Given the description of an element on the screen output the (x, y) to click on. 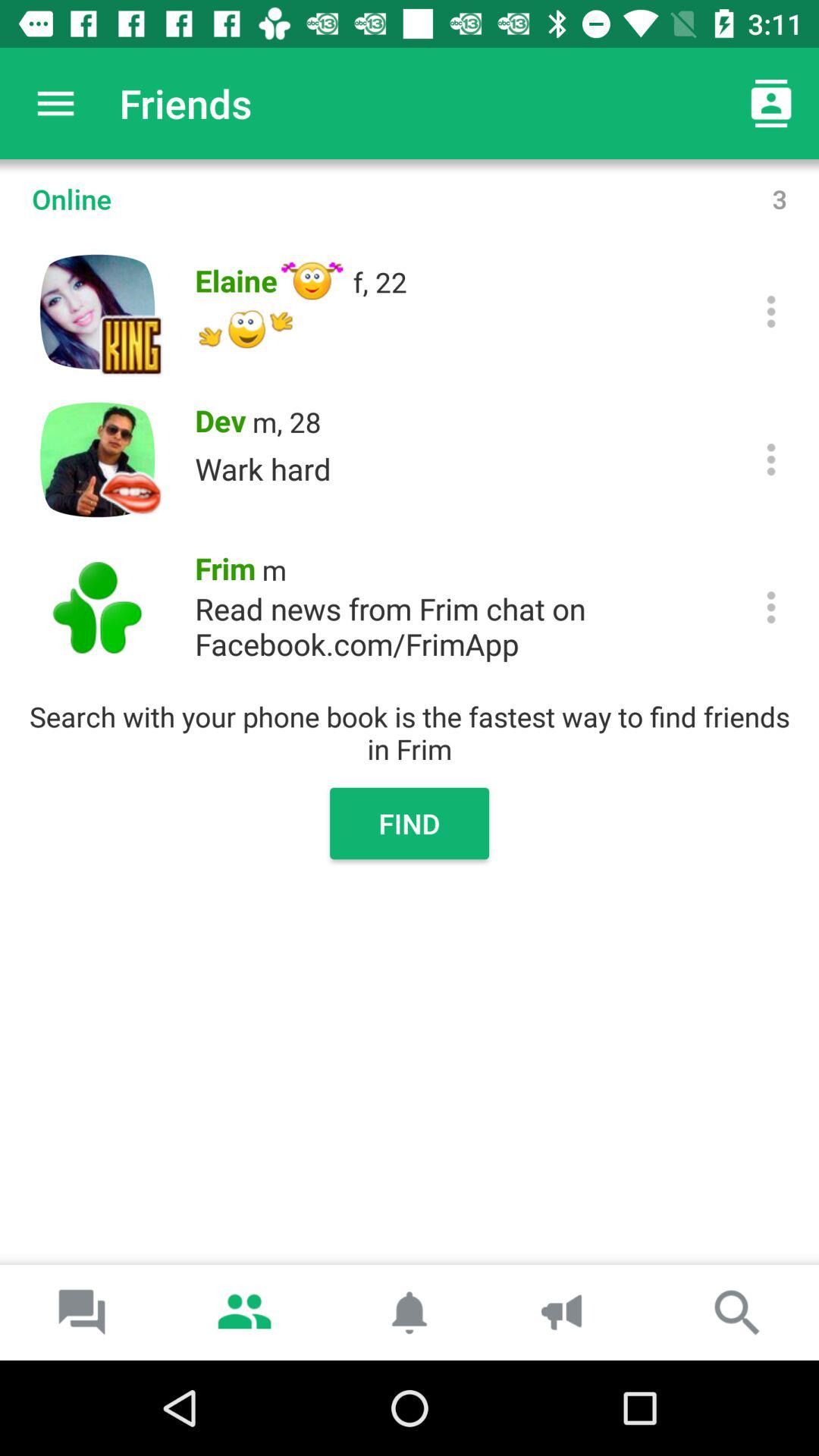
overflow menu (771, 459)
